Given the description of an element on the screen output the (x, y) to click on. 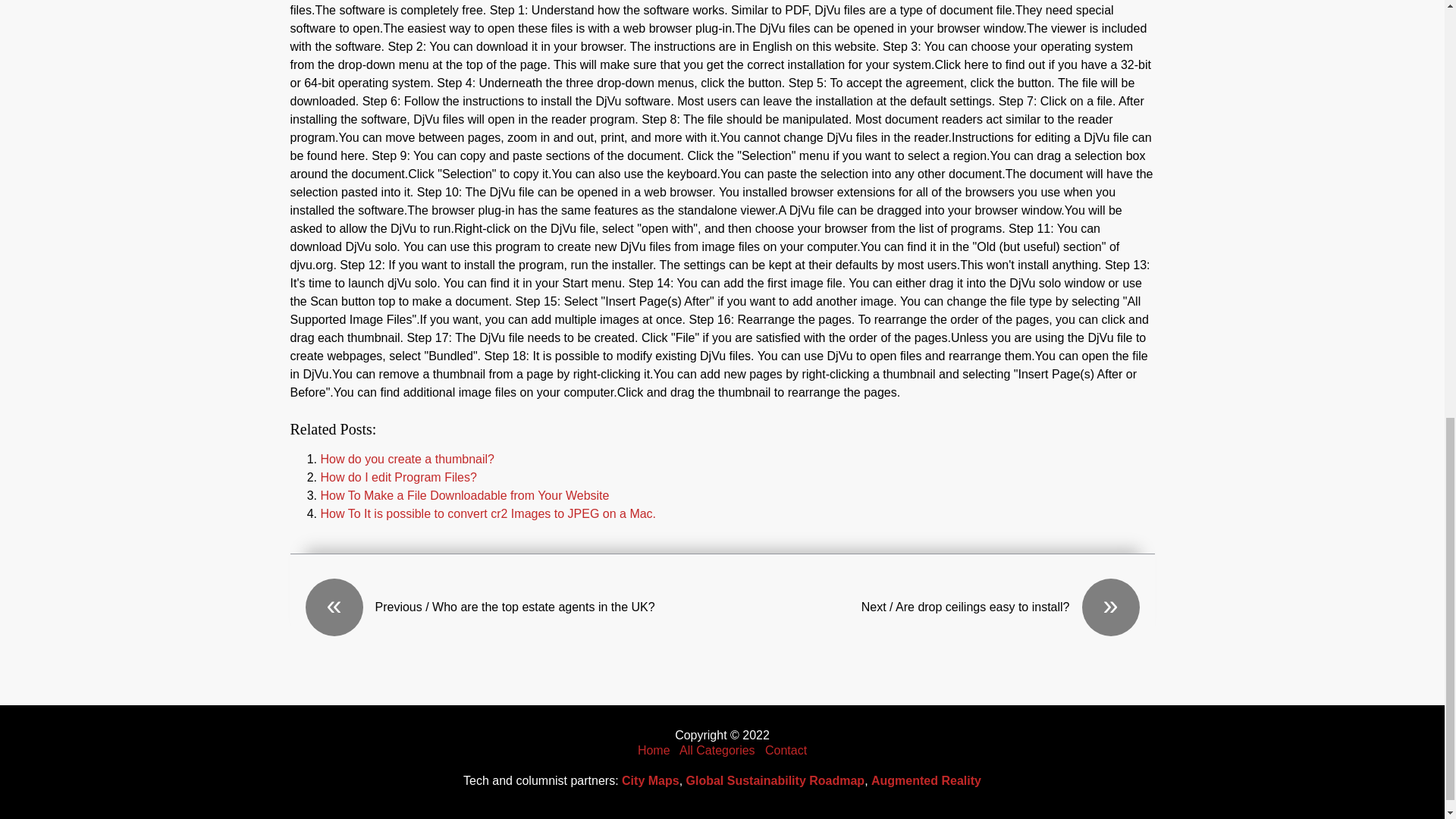
Parkers Legacy (653, 749)
Home (653, 749)
Contact Us (785, 749)
Global Sustainability Roadmap (774, 780)
Contact (785, 749)
How To Make a File Downloadable from Your Website (464, 495)
All Categories (717, 749)
How do you create a thumbnail? (406, 459)
Augmented Reality (925, 780)
